Given the description of an element on the screen output the (x, y) to click on. 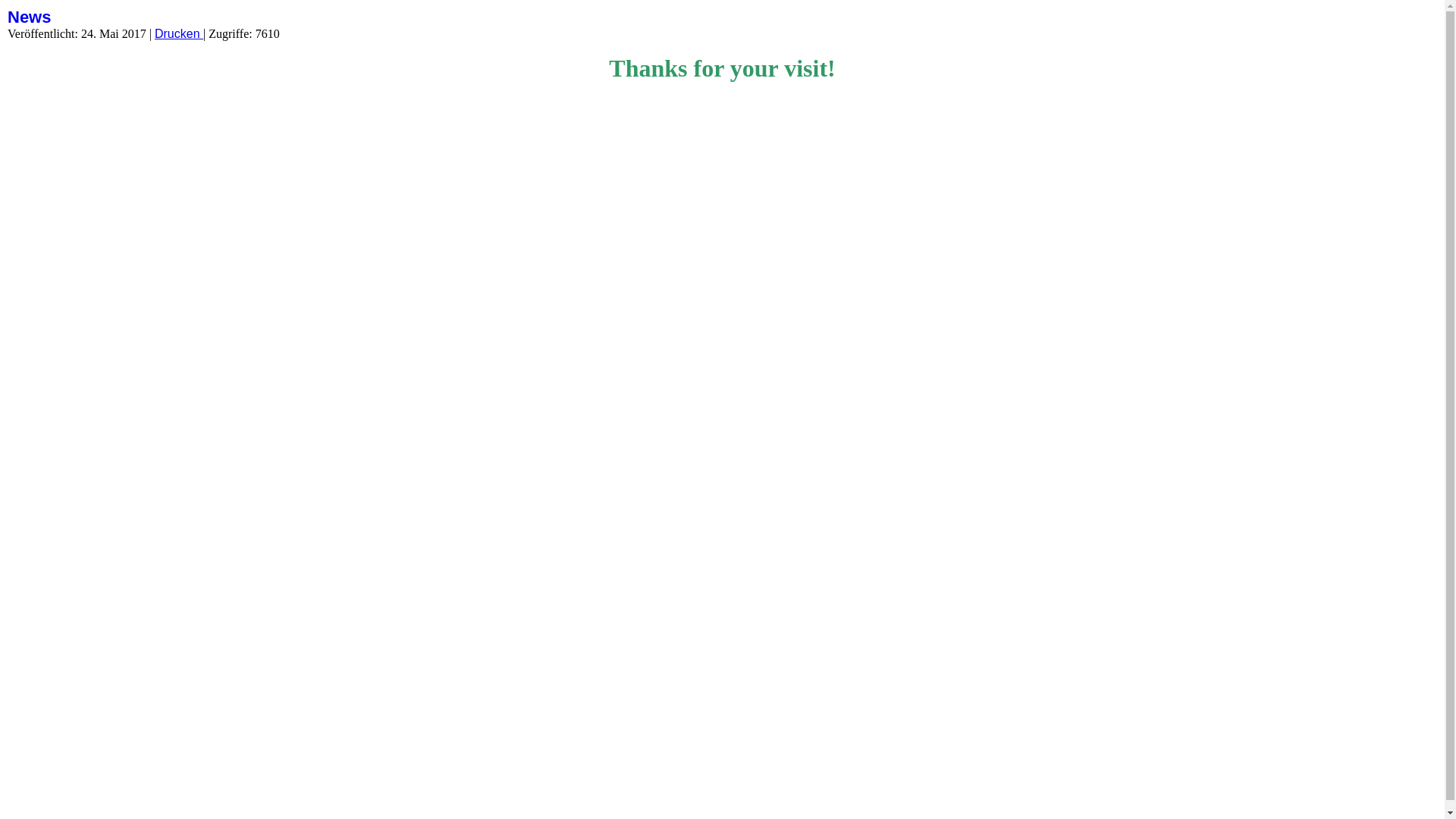
Drucken Element type: text (178, 33)
News Element type: text (28, 16)
